Given the description of an element on the screen output the (x, y) to click on. 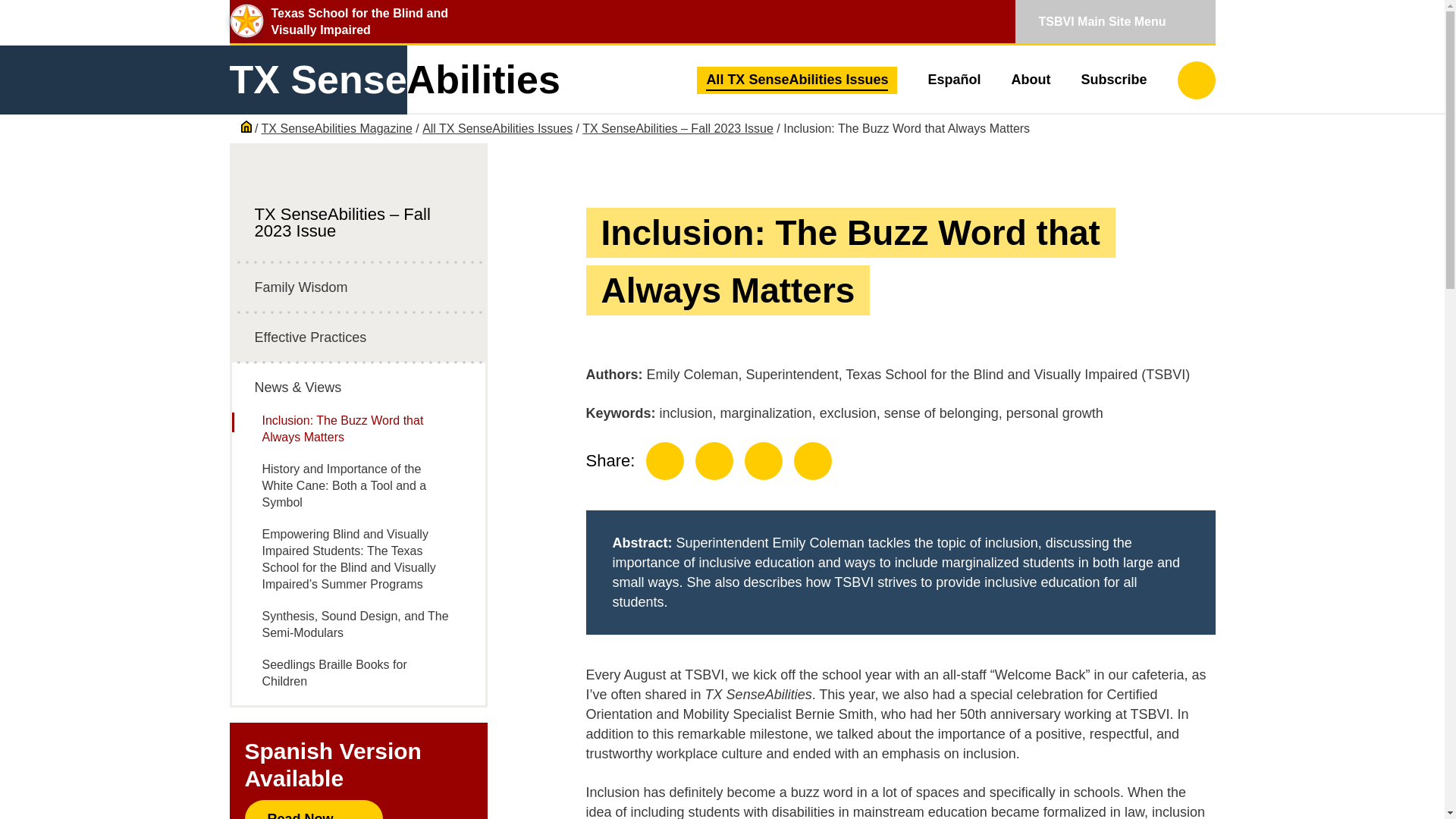
Share to Twitter (763, 460)
Back to Homepage (247, 128)
Go to TX SenseAbilities homepage (393, 79)
Share to LinkedIn (714, 460)
All TX SenseAbilities Issues (497, 128)
TSBVI Main Site Menu (1114, 21)
TX SenseAbilities Magazine (393, 79)
Subscribe (337, 128)
Search (1113, 79)
Skip to main content (1195, 79)
About (28, 28)
Effective Practices (1029, 79)
Share to Email (357, 337)
All TX SenseAbilities Issues (812, 460)
